Given the description of an element on the screen output the (x, y) to click on. 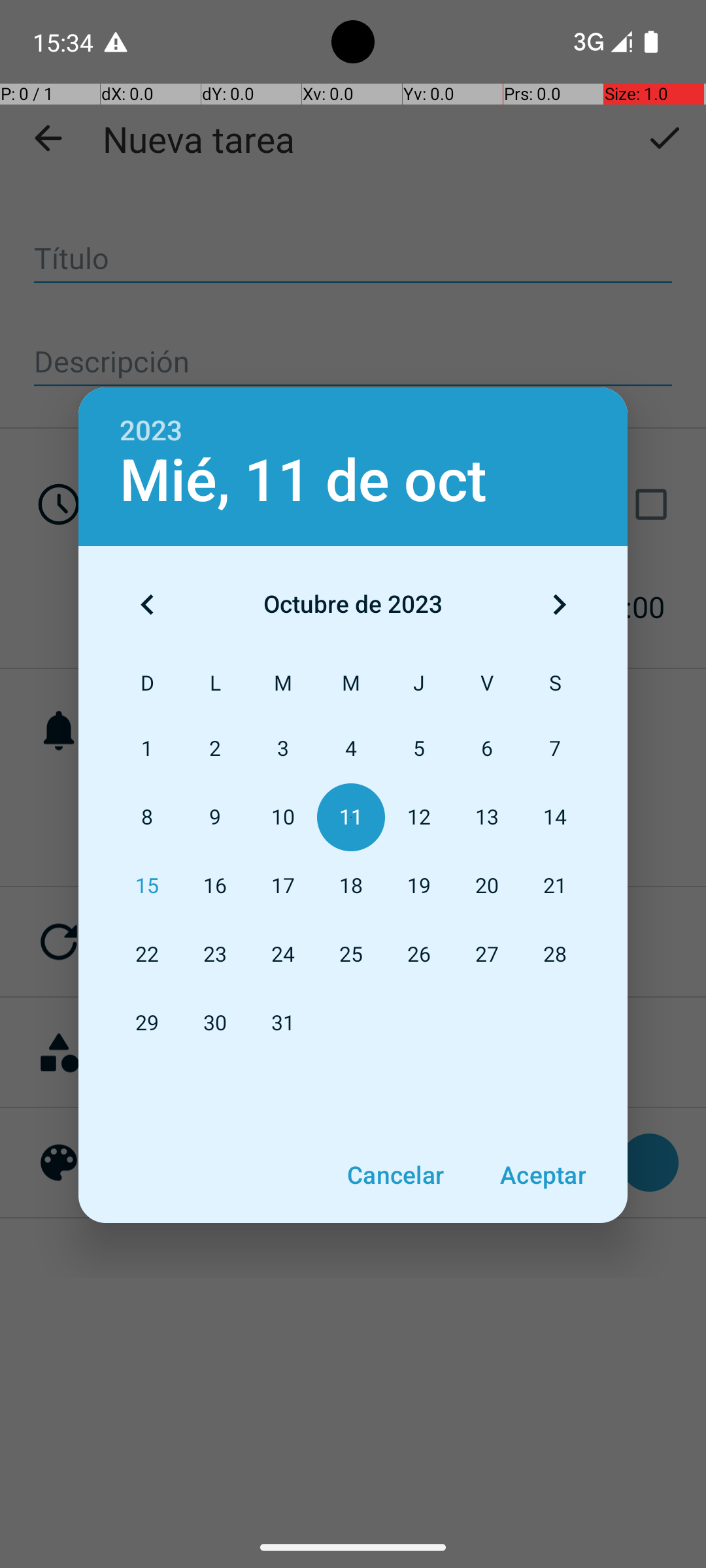
Mié, 11 de oct Element type: android.widget.TextView (303, 480)
Mes anterior Element type: android.widget.ImageButton (146, 604)
Mes siguiente Element type: android.widget.ImageButton (558, 604)
Cancelar Element type: android.widget.Button (394, 1174)
Aceptar Element type: android.widget.Button (542, 1174)
